Given the description of an element on the screen output the (x, y) to click on. 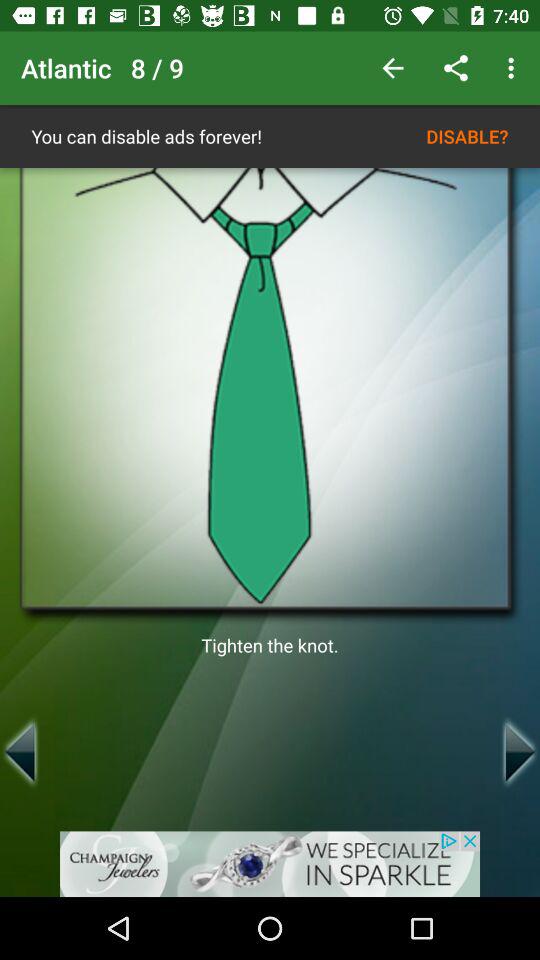
open advertisement (270, 864)
